Given the description of an element on the screen output the (x, y) to click on. 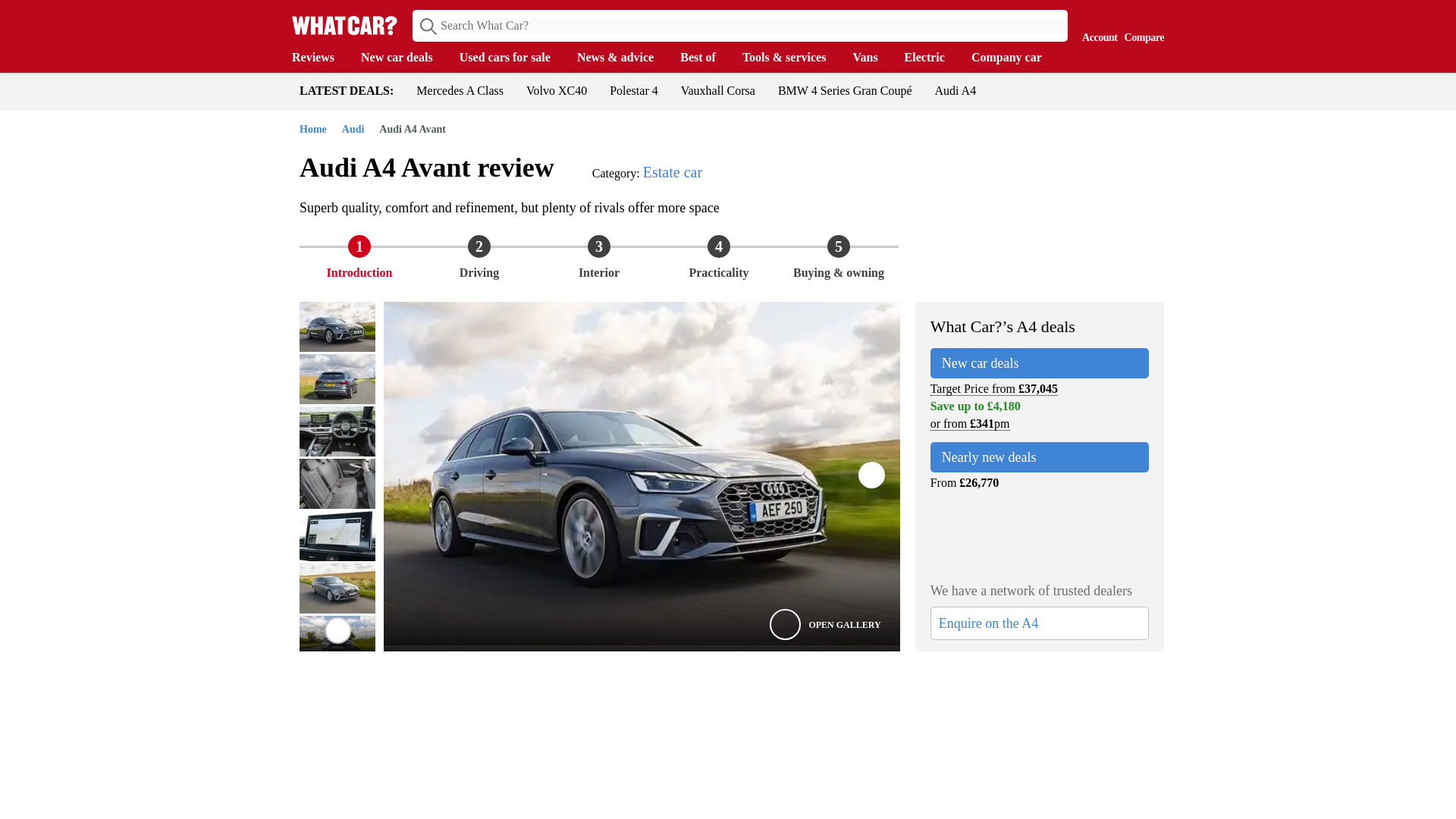
Best of (704, 57)
Vans (871, 57)
Company car (1014, 57)
New car deals (404, 57)
Reviews (320, 57)
Compare (1140, 24)
WhatCar? logo (344, 25)
Account (1095, 24)
Electric (931, 57)
Used cars for sale (513, 57)
